Given the description of an element on the screen output the (x, y) to click on. 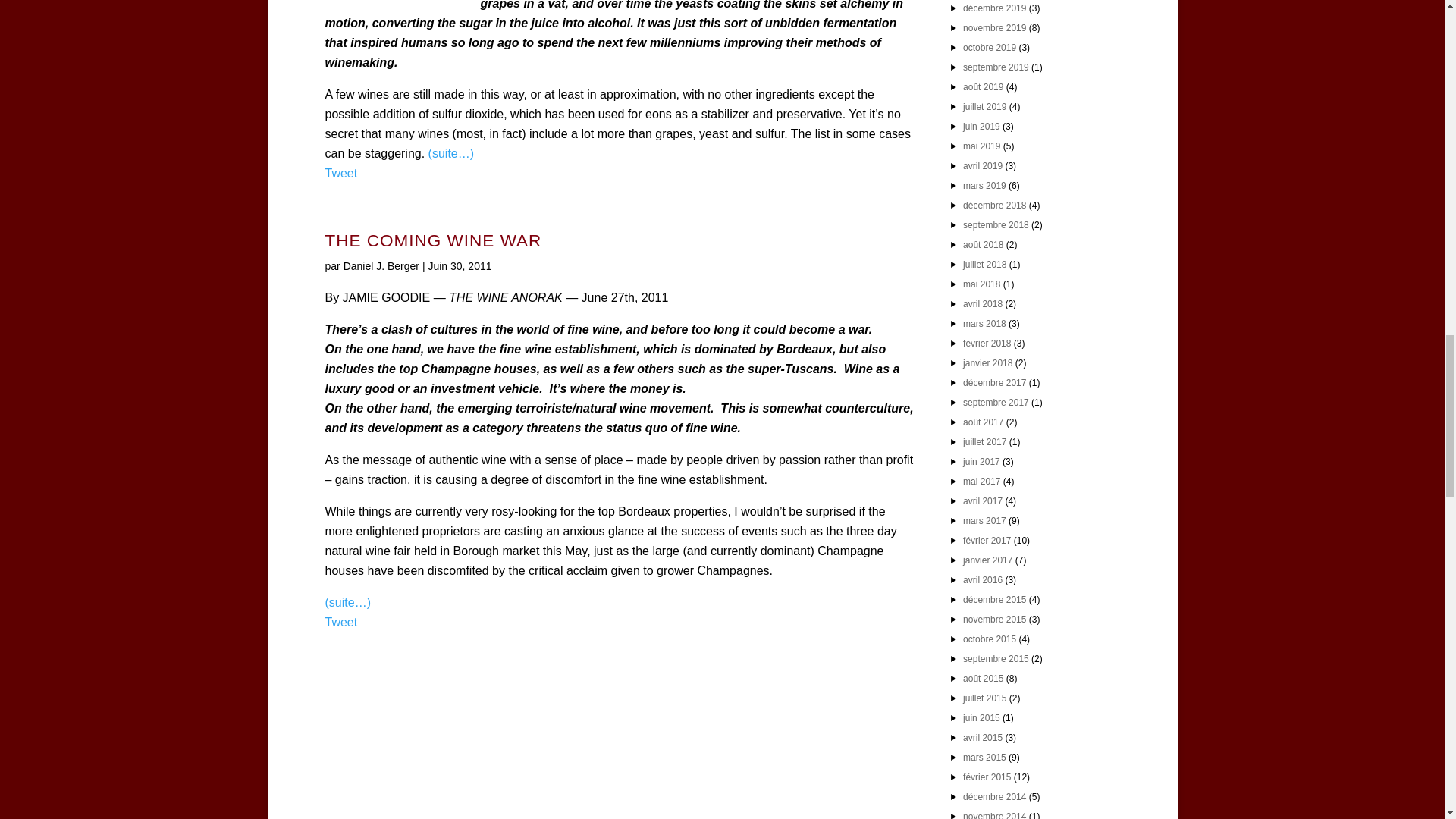
Tweet (340, 621)
Articles de Daniel J. Berger (381, 265)
Daniel J. Berger (381, 265)
THE COMING WINE WAR (432, 240)
Tweet (340, 173)
